Given the description of an element on the screen output the (x, y) to click on. 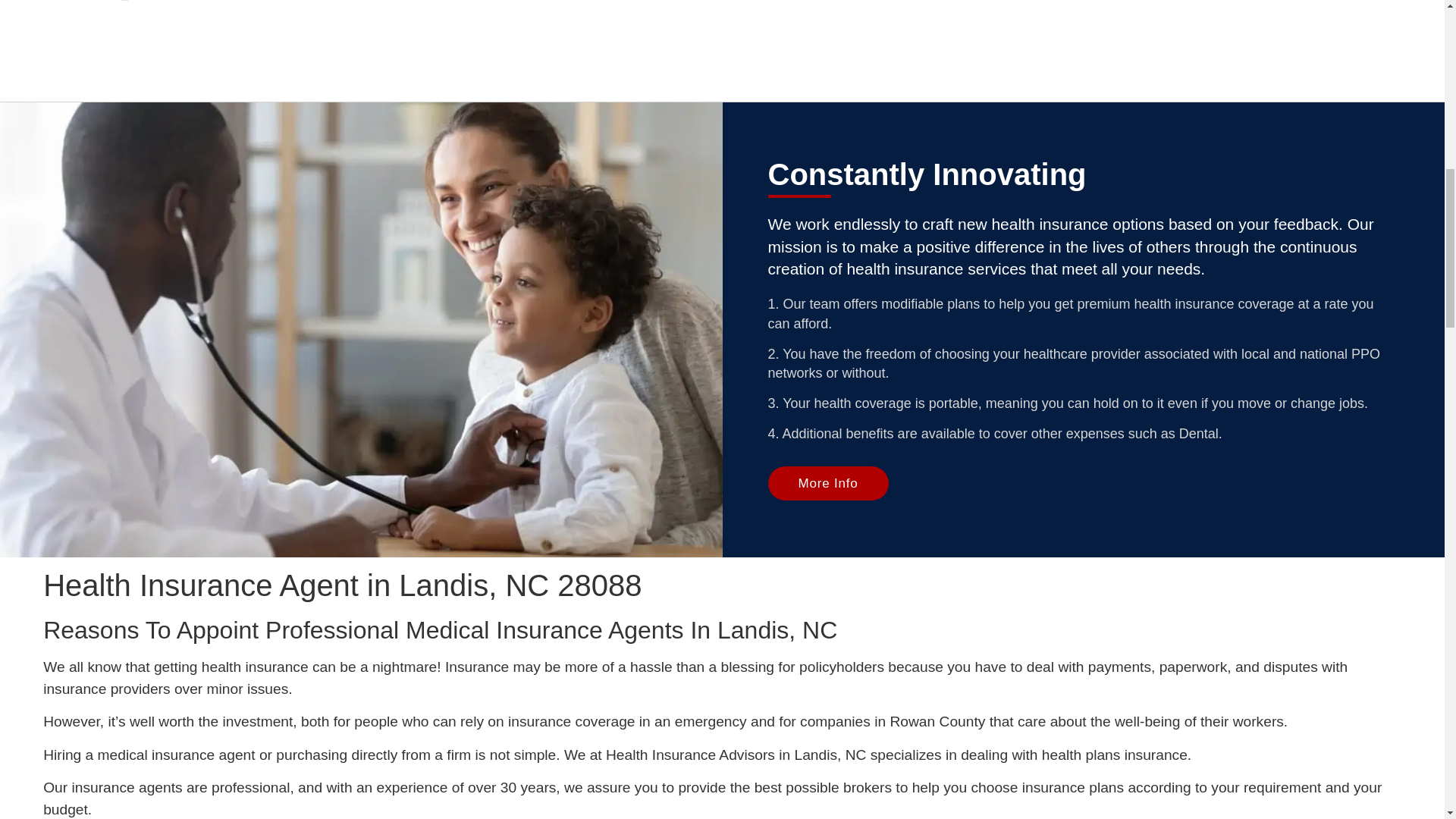
More Info (827, 483)
